Given the description of an element on the screen output the (x, y) to click on. 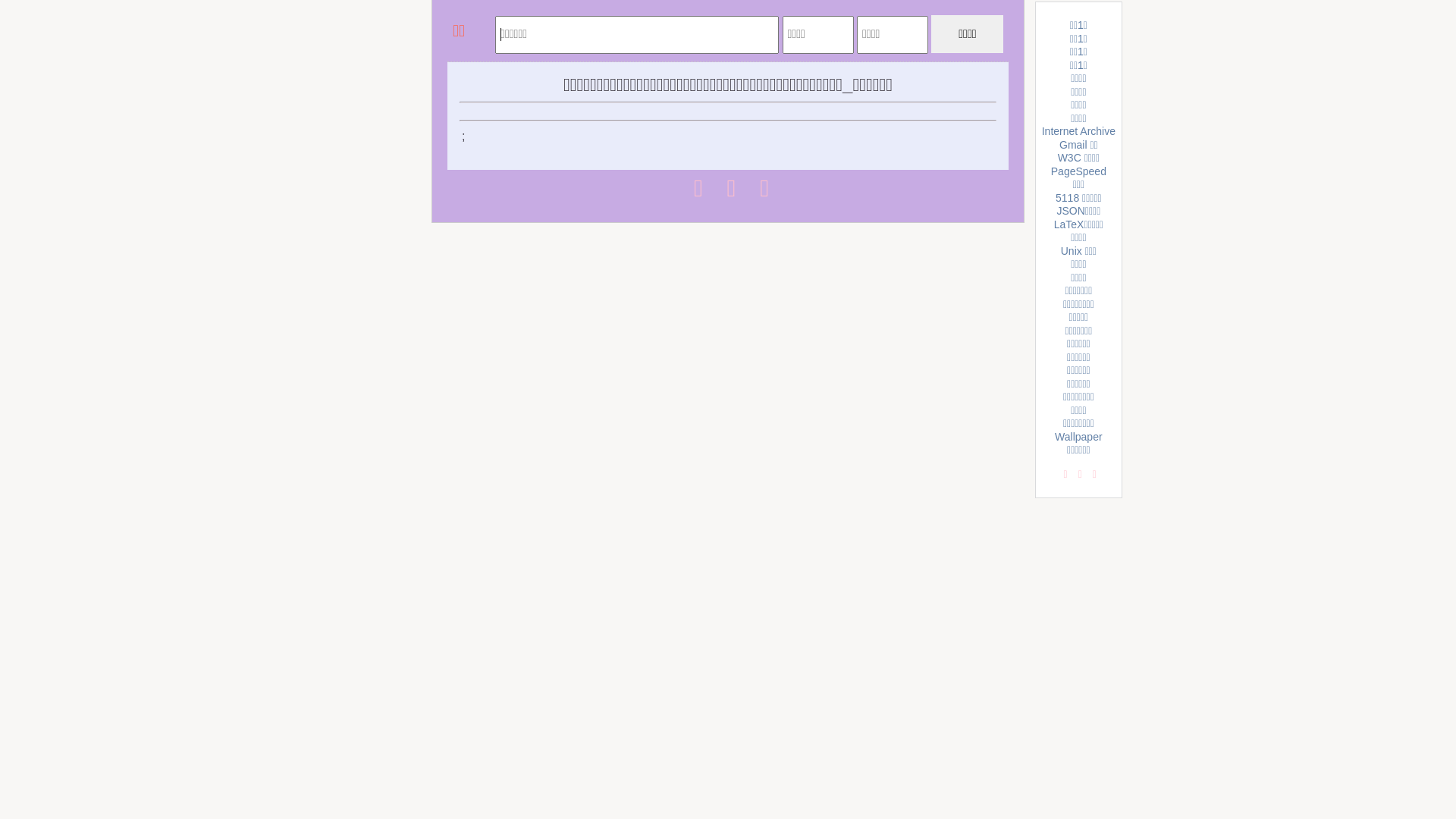
Wallpaper Element type: text (1078, 436)
no canvas Element type: text (472, 33)
Internet Archive Element type: text (1078, 131)
PageSpeed Element type: text (1078, 171)
